Given the description of an element on the screen output the (x, y) to click on. 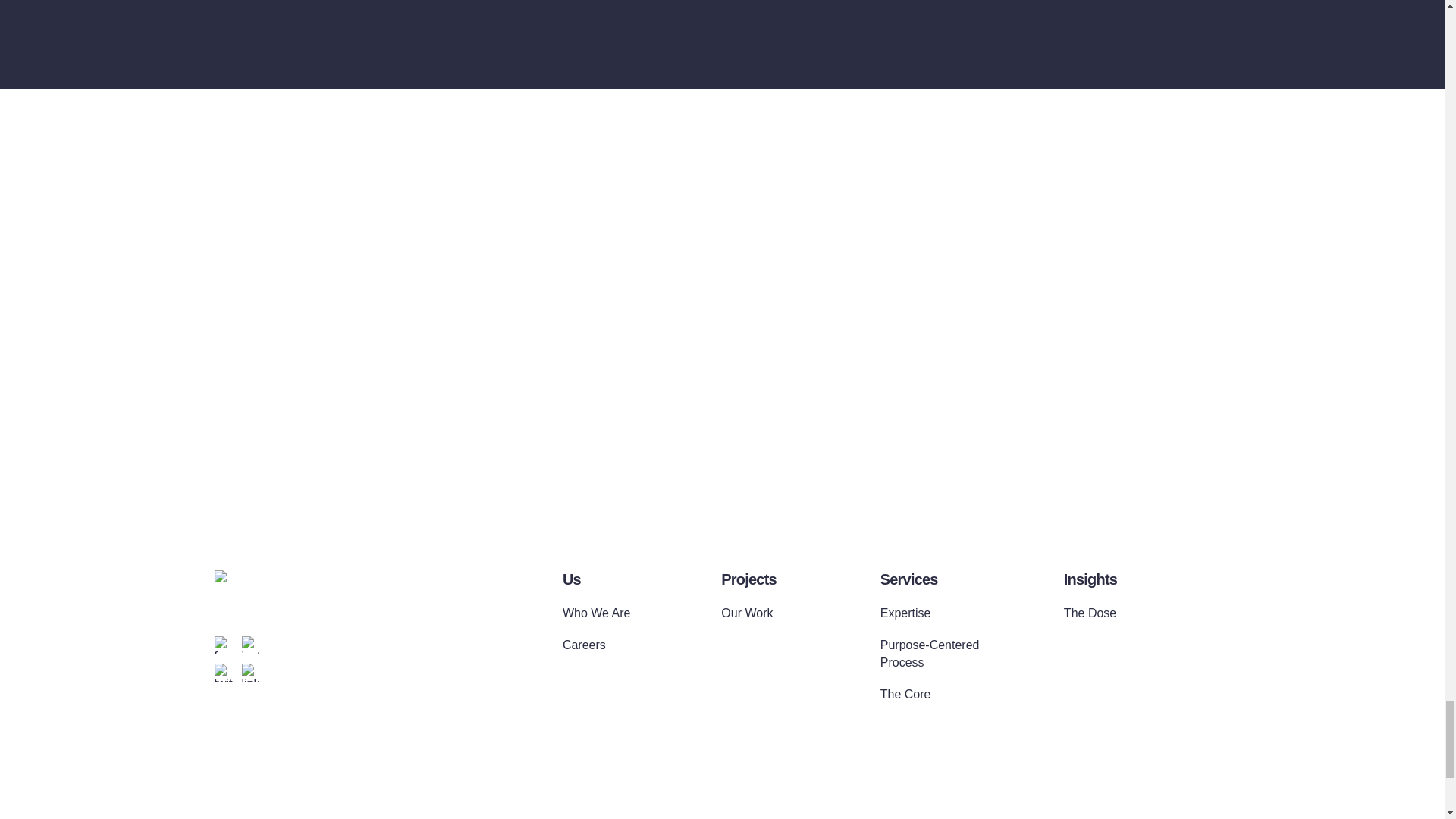
Who We Are (605, 613)
Purpose-Centered Process (935, 653)
Our Work (764, 613)
Careers (605, 645)
The Core (935, 694)
Expertise (935, 613)
The Dose (1107, 613)
